Given the description of an element on the screen output the (x, y) to click on. 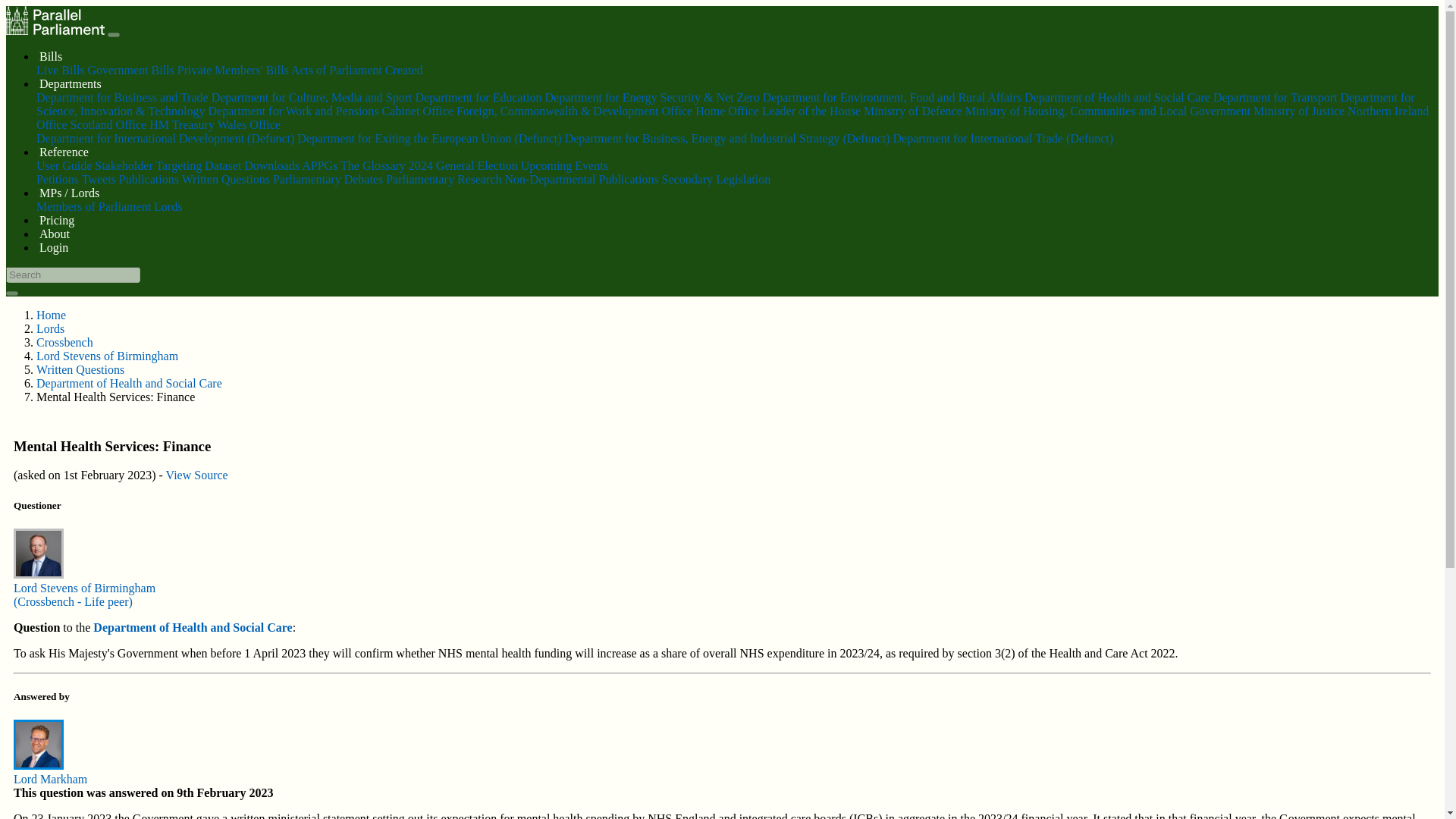
Reference (63, 151)
Department for Transport (1275, 97)
Department for Education (477, 97)
APPGs (319, 164)
HM Treasury (181, 124)
Department for Work and Pensions (293, 110)
Department for Environment, Food and Rural Affairs (892, 97)
Government Bills (130, 69)
Scotland Office (108, 124)
Leader of the House (810, 110)
